Given the description of an element on the screen output the (x, y) to click on. 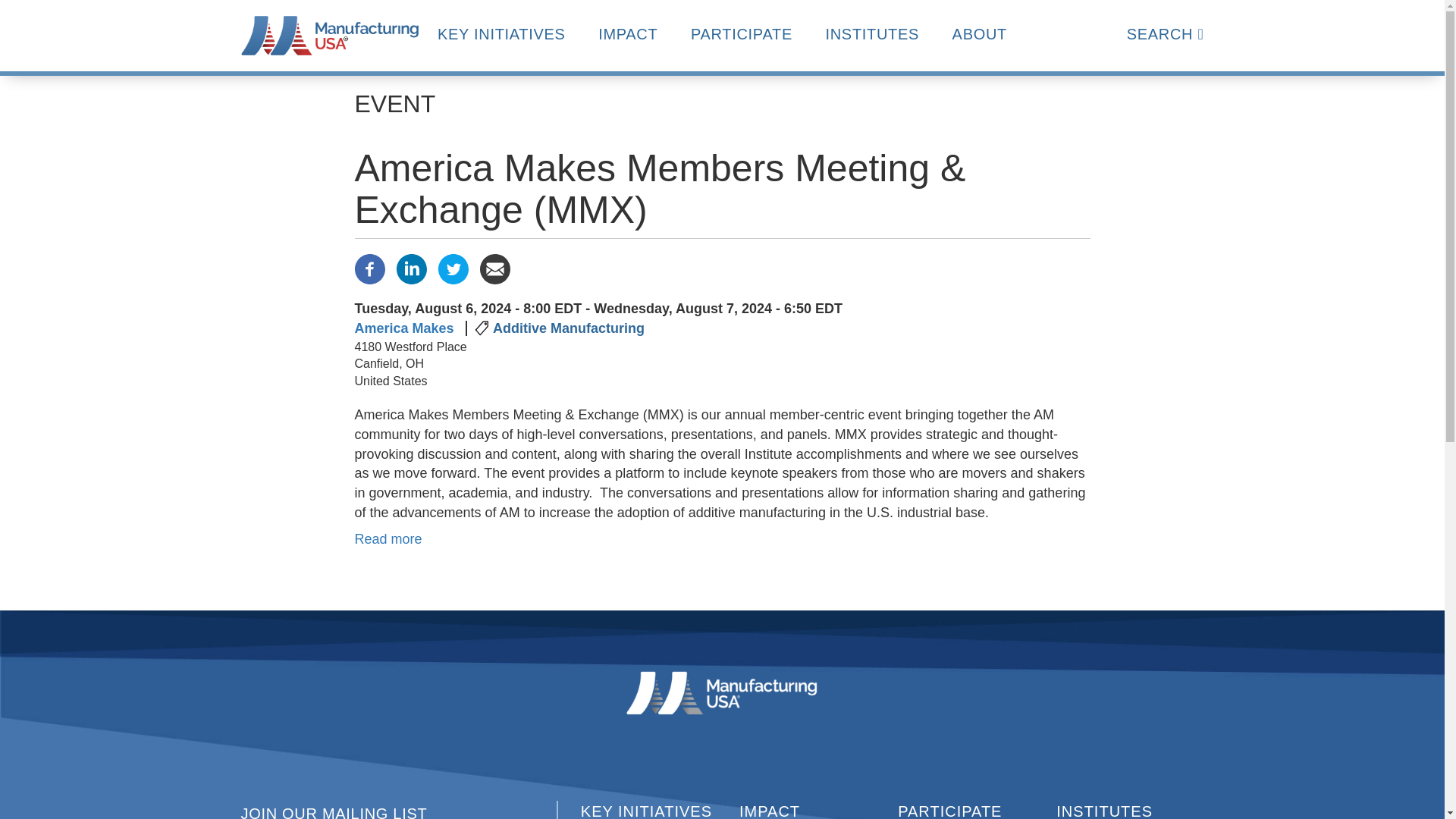
Home (330, 33)
Email (494, 267)
Facebook (370, 267)
Twitter (453, 267)
Linkedin (411, 267)
